Given the description of an element on the screen output the (x, y) to click on. 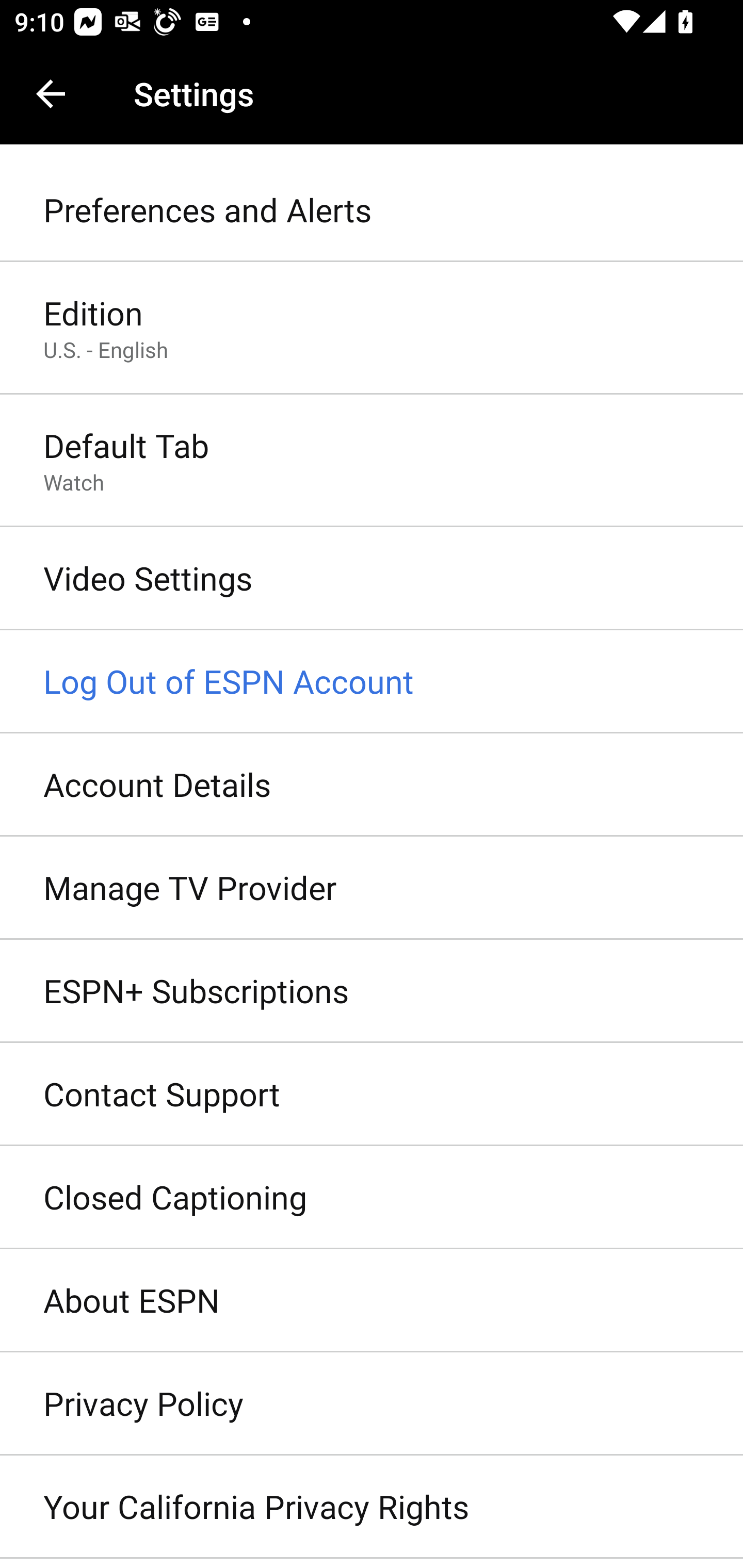
Navigate up (50, 93)
Preferences and Alerts (371, 209)
Edition U.S. - English (371, 328)
Default Tab Watch (371, 461)
Video Settings (371, 578)
Log Out of ESPN Account (371, 681)
Account Details (371, 785)
Manage TV Provider (371, 888)
ESPN+ Subscriptions (371, 990)
Contact Support (371, 1094)
Closed Captioning (371, 1197)
About ESPN (371, 1301)
Privacy Policy (371, 1403)
Your California Privacy Rights (371, 1506)
